Given the description of an element on the screen output the (x, y) to click on. 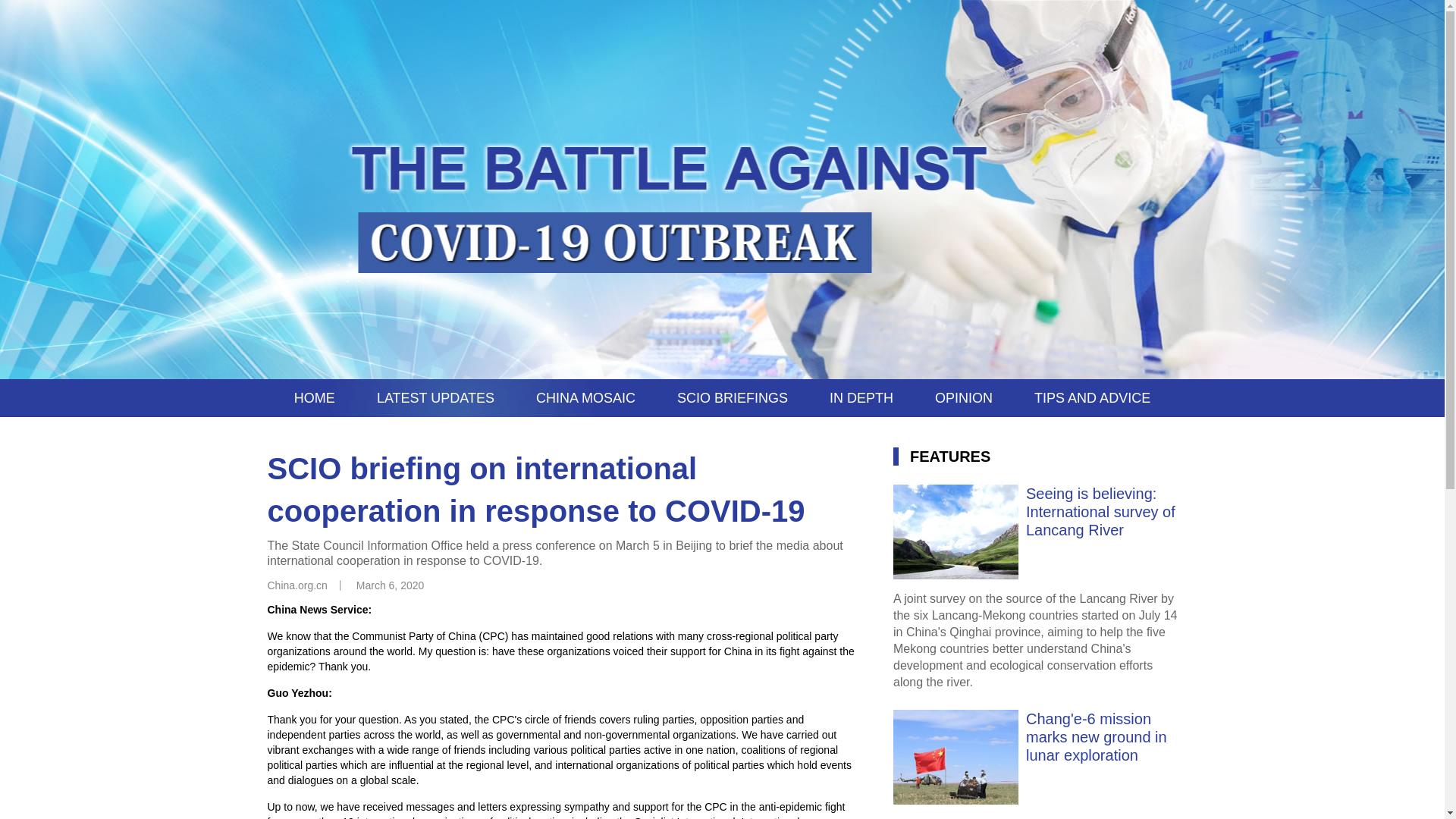
CHINA MOSAIC (584, 397)
SCIO BRIEFINGS (732, 397)
HOME (314, 397)
IN DEPTH (861, 397)
TIPS AND ADVICE (1091, 397)
LATEST UPDATES (436, 397)
OPINION (963, 397)
